Given the description of an element on the screen output the (x, y) to click on. 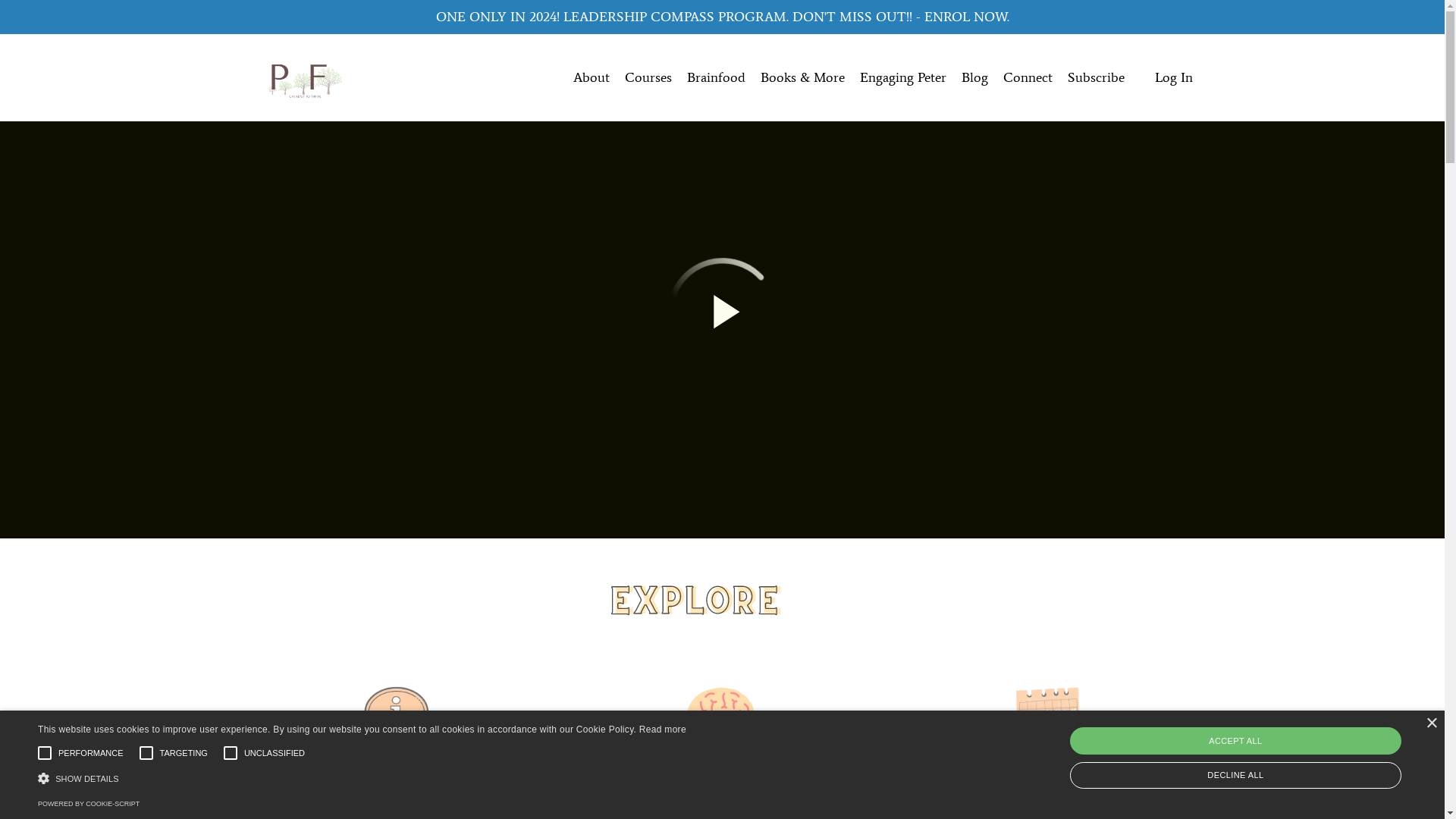
Subscribe Element type: text (1095, 77)
Engaging Peter Element type: text (902, 77)
Blog Element type: text (974, 77)
Connect Element type: text (1026, 77)
Brainfood Element type: text (716, 77)
Read more Element type: text (662, 729)
Log In Element type: text (1173, 77)
POWERED BY COOKIE-SCRIPT Element type: text (88, 803)
Courses Element type: text (647, 77)
About Element type: text (591, 77)
Books & More Element type: text (801, 77)
